Given the description of an element on the screen output the (x, y) to click on. 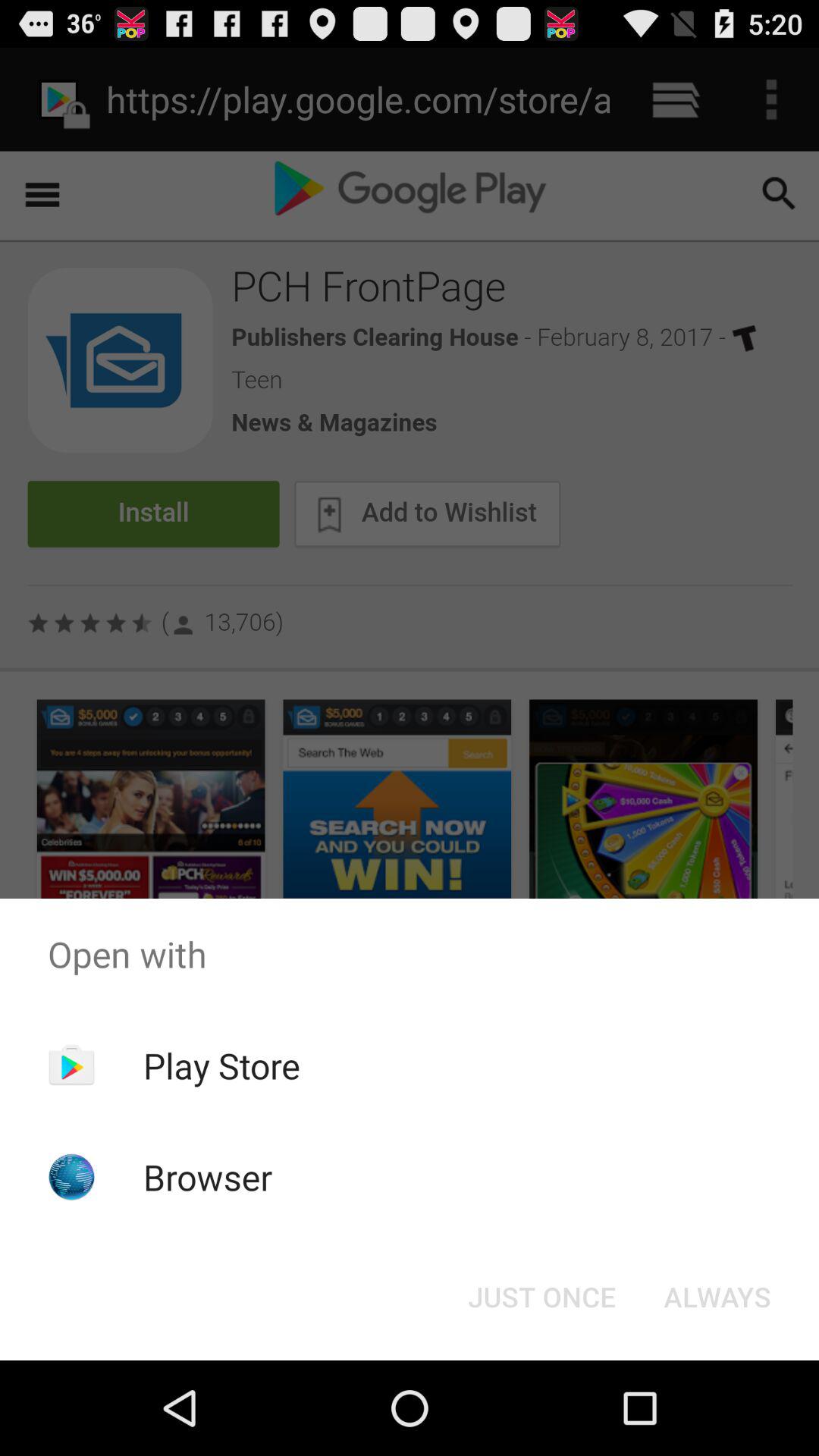
click button next to always button (541, 1296)
